Given the description of an element on the screen output the (x, y) to click on. 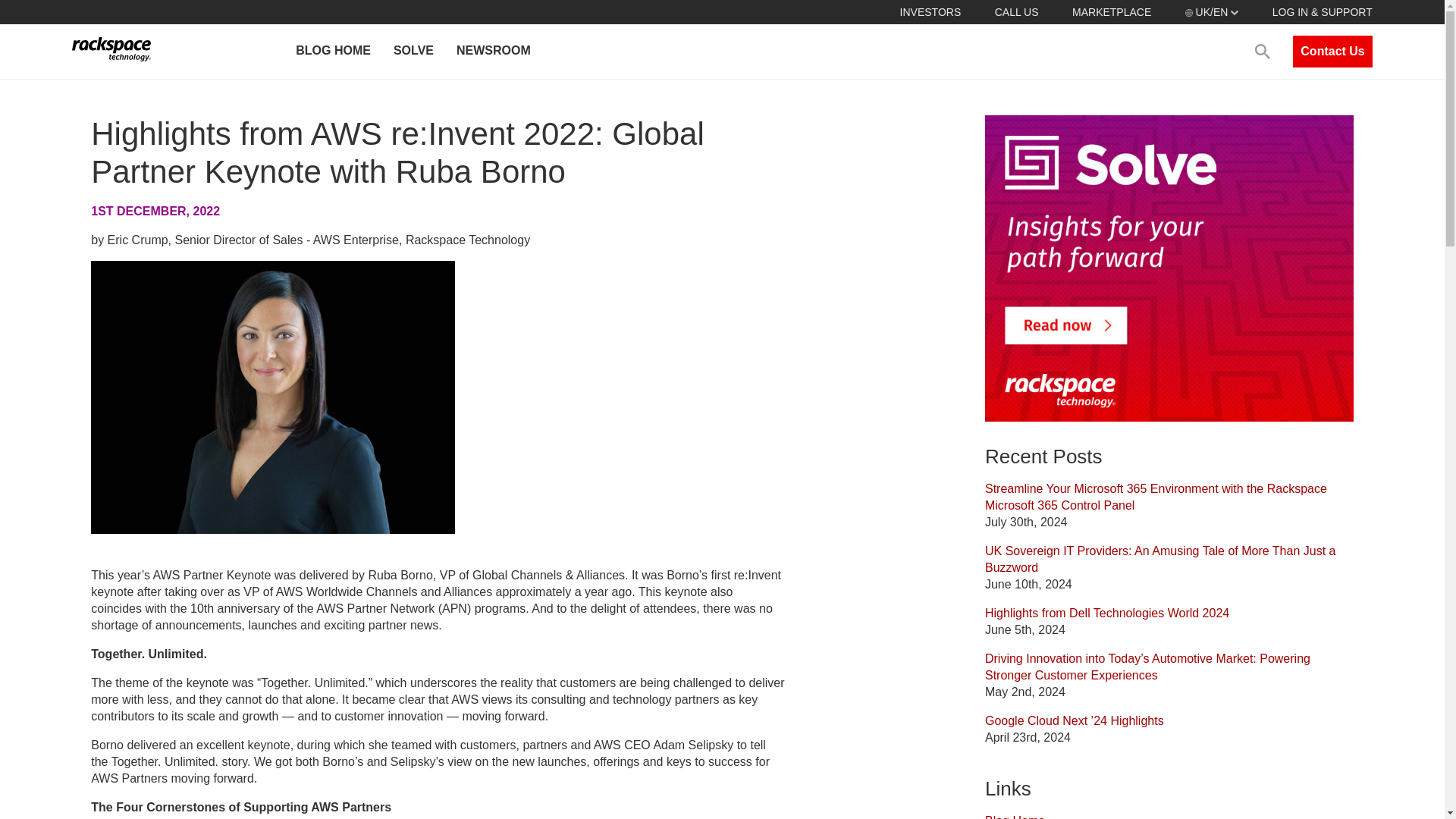
INVESTORS (929, 11)
Contact Us (1331, 51)
CALL US (1016, 11)
Blog Home (1015, 816)
MARKETPLACE (1111, 11)
NEWSROOM (493, 51)
Highlights from Dell Technologies World 2024 (1106, 612)
BLOG HOME (332, 51)
SOLVE (413, 51)
